Given the description of an element on the screen output the (x, y) to click on. 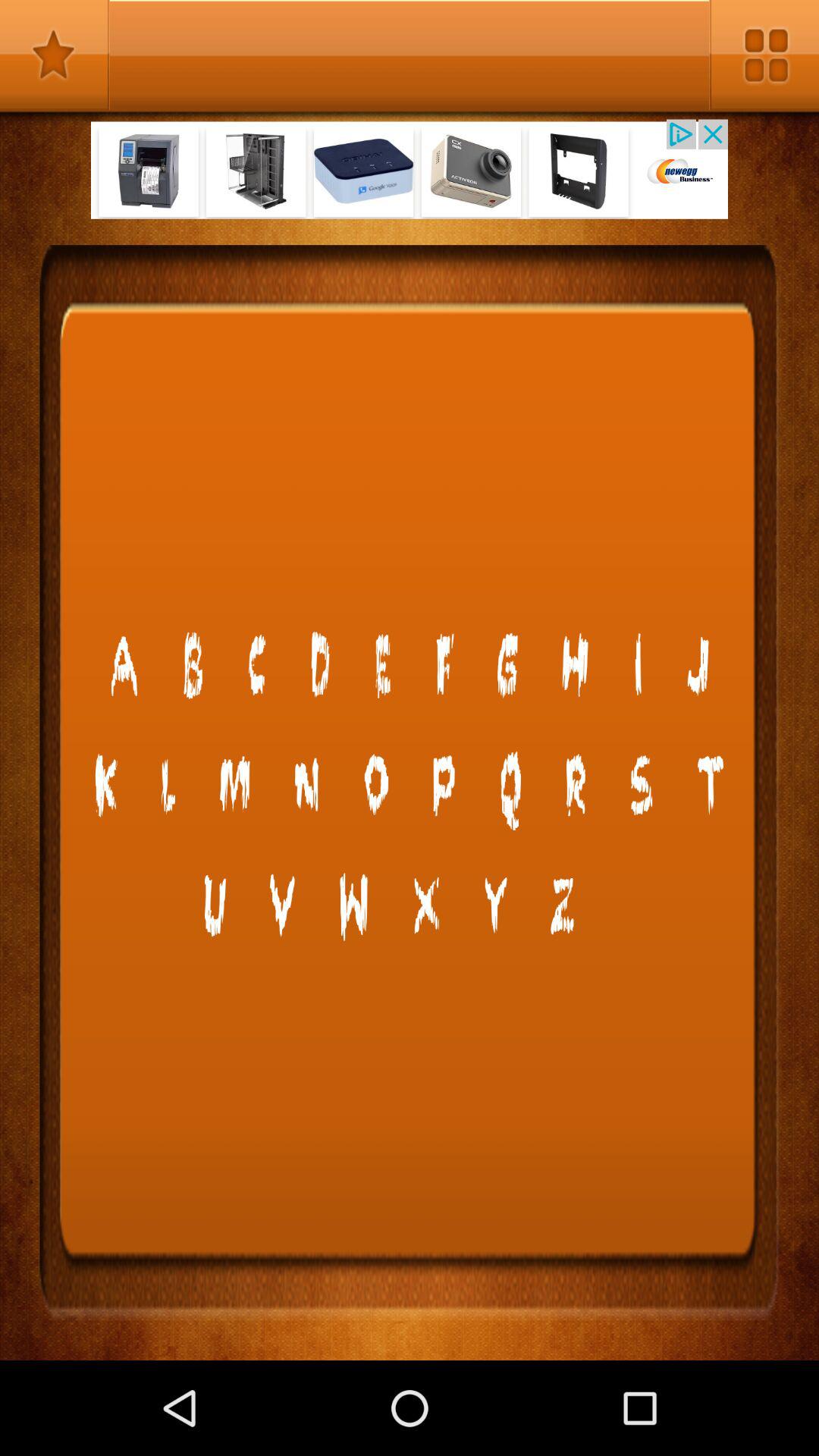
favourites (54, 54)
